Given the description of an element on the screen output the (x, y) to click on. 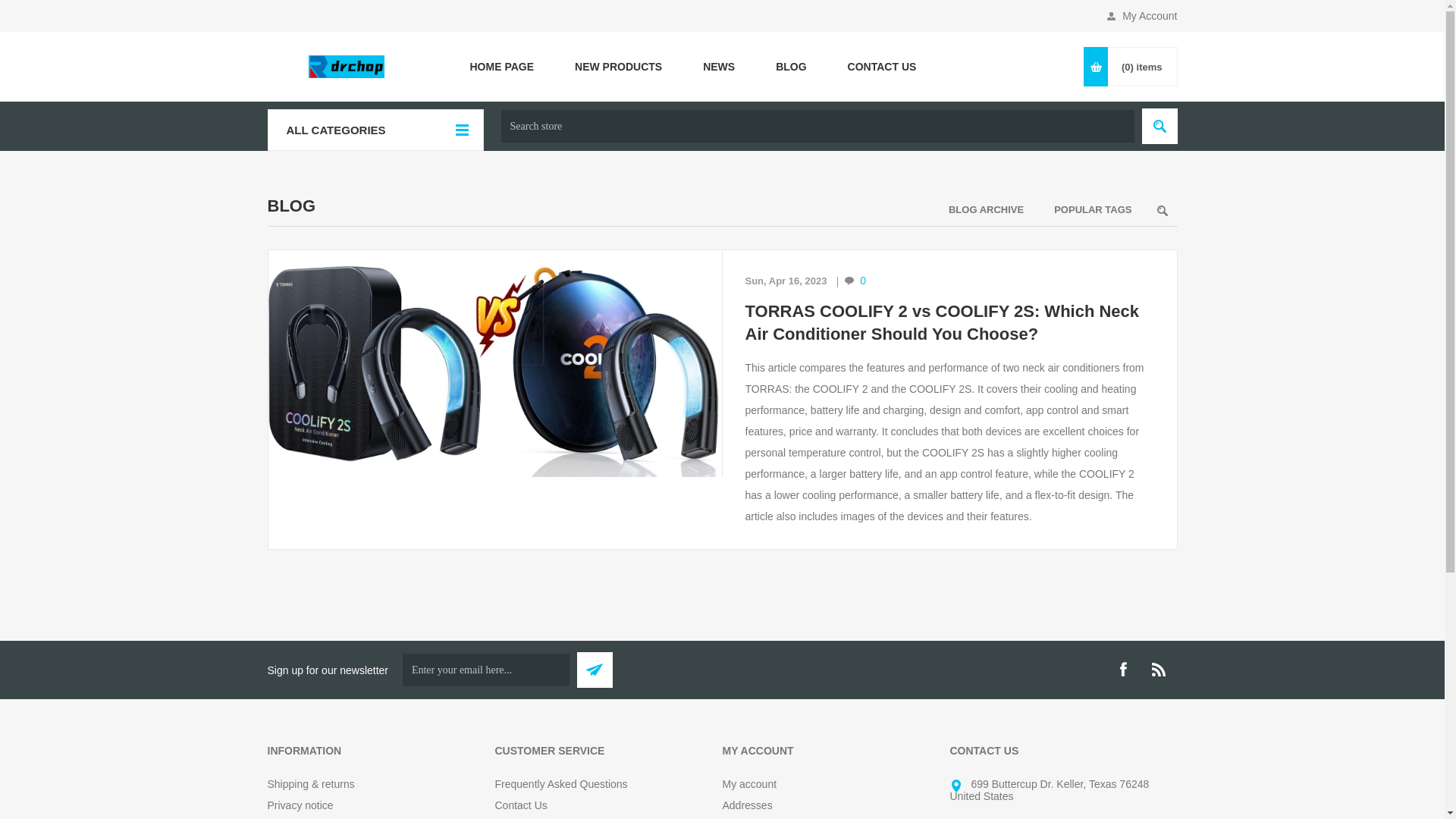
BLOG (791, 66)
News (718, 66)
HOME PAGE (501, 66)
Search (1159, 126)
NEW PRODUCTS (618, 66)
Home Page (501, 66)
Contact Us (882, 66)
Search (1161, 210)
